Given the description of an element on the screen output the (x, y) to click on. 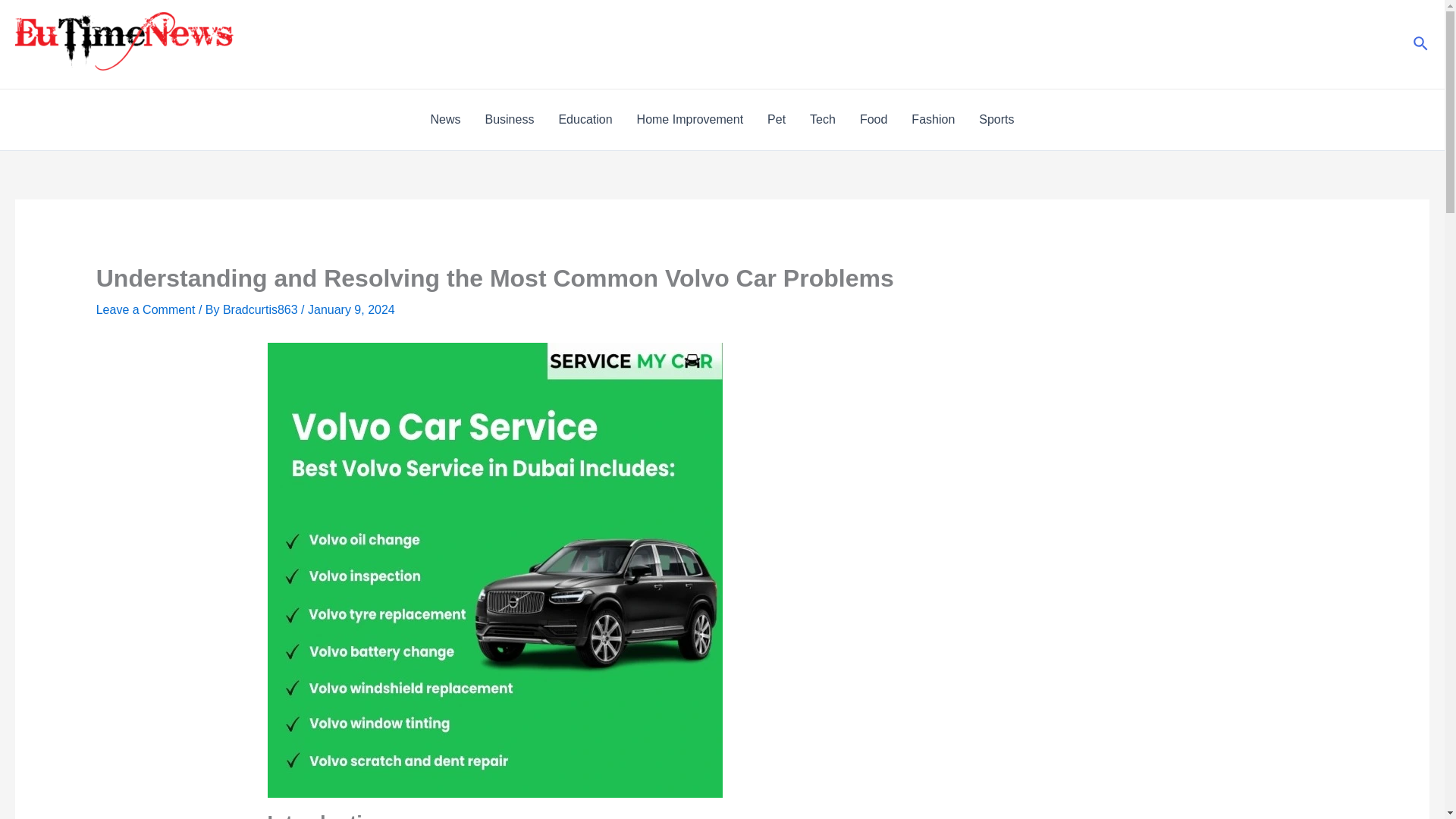
Education (585, 119)
Fashion (932, 119)
Sports (996, 119)
Business (508, 119)
Leave a Comment (145, 309)
Bradcurtis863 (261, 309)
Home Improvement (689, 119)
News (444, 119)
View all posts by Bradcurtis863 (261, 309)
